Given the description of an element on the screen output the (x, y) to click on. 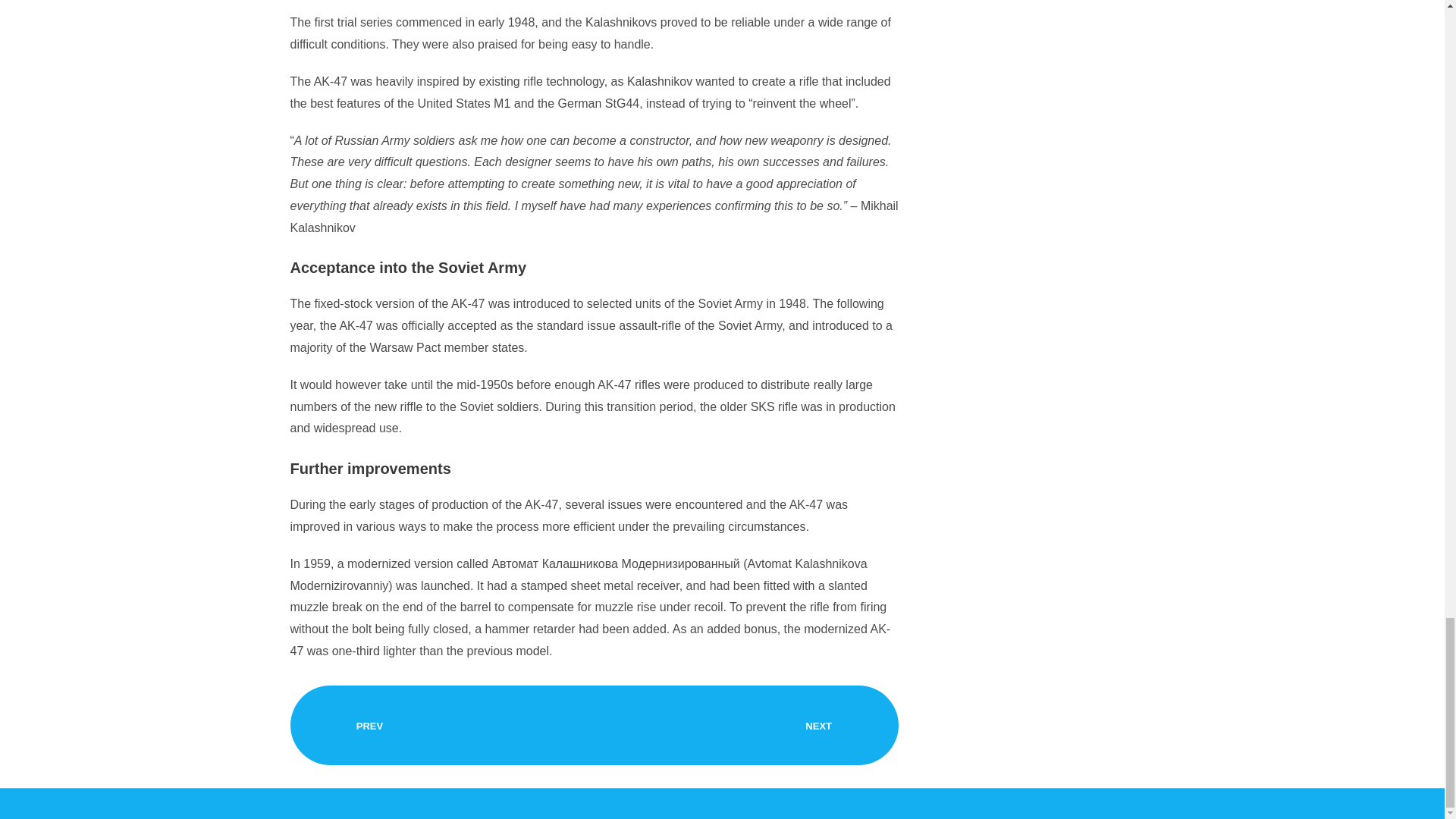
NEXT (818, 726)
PREV (369, 726)
